Given the description of an element on the screen output the (x, y) to click on. 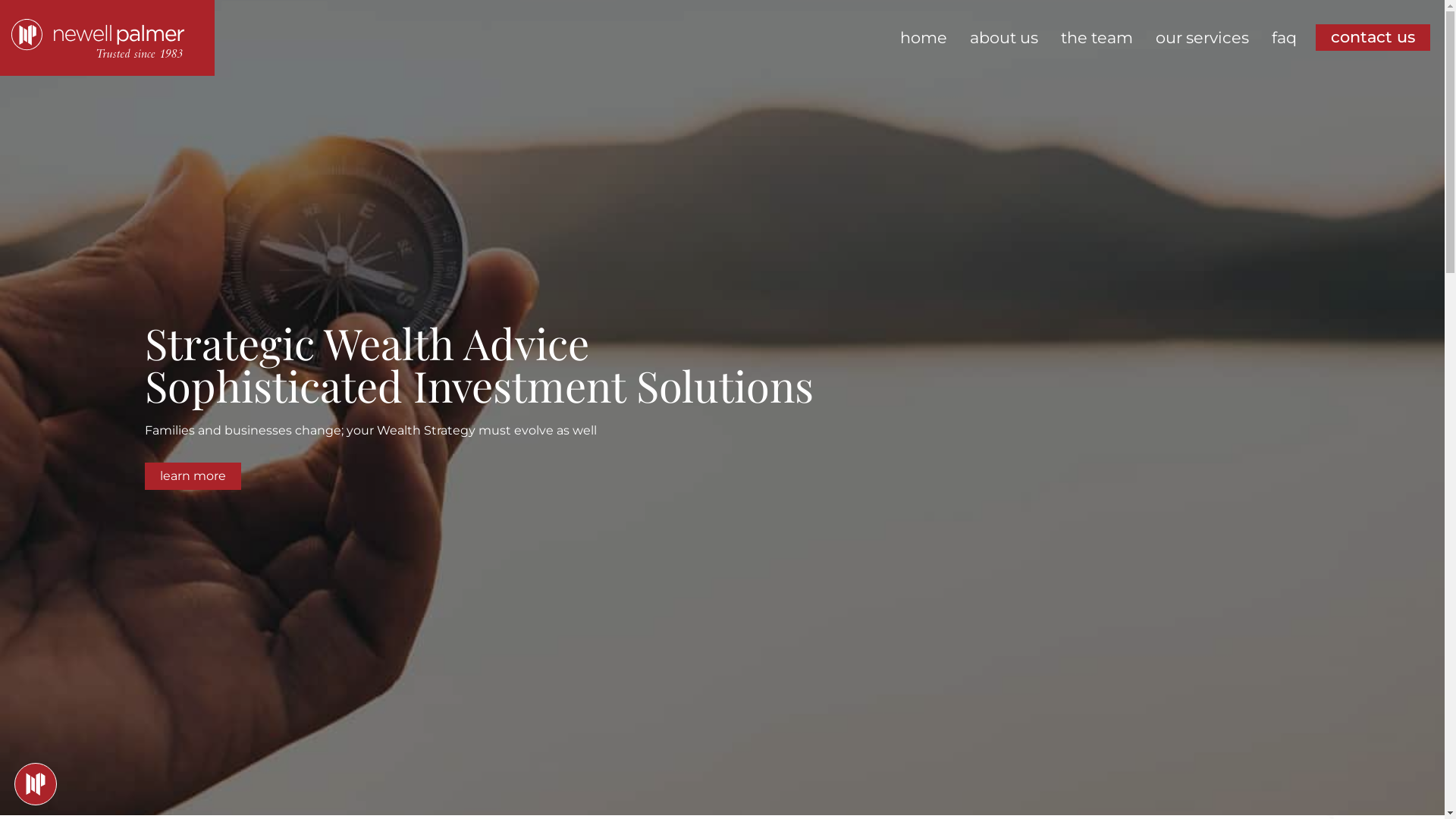
our services Element type: text (1202, 38)
faq Element type: text (1284, 38)
home Element type: text (923, 38)
learn more Element type: text (192, 475)
contact us Element type: text (1372, 37)
the team Element type: text (1096, 38)
about us Element type: text (1003, 38)
